Given the description of an element on the screen output the (x, y) to click on. 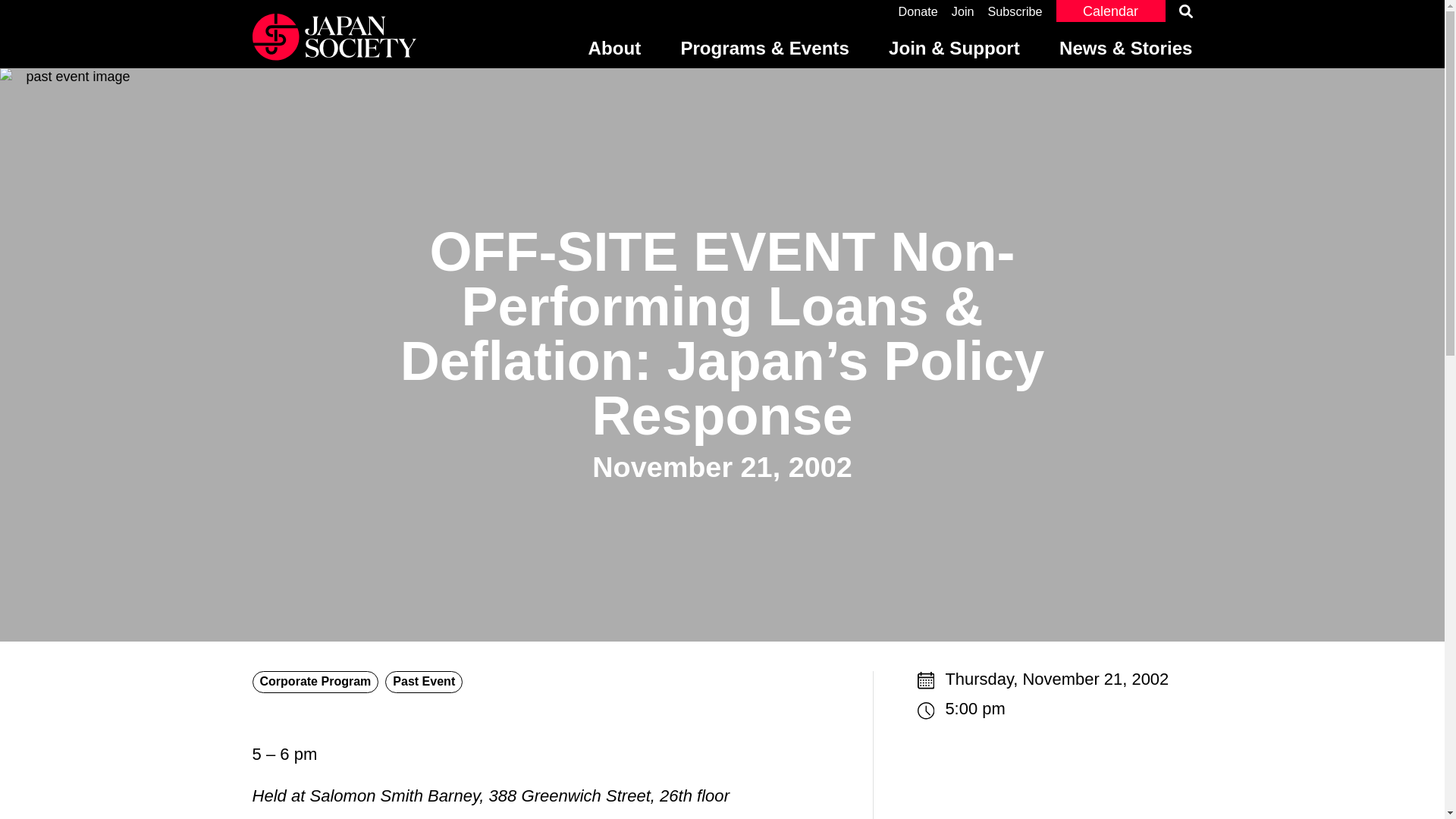
Corporate Program (314, 681)
Subscribe (1015, 11)
Calendar (1109, 11)
Donate (917, 11)
Join (963, 11)
